Given the description of an element on the screen output the (x, y) to click on. 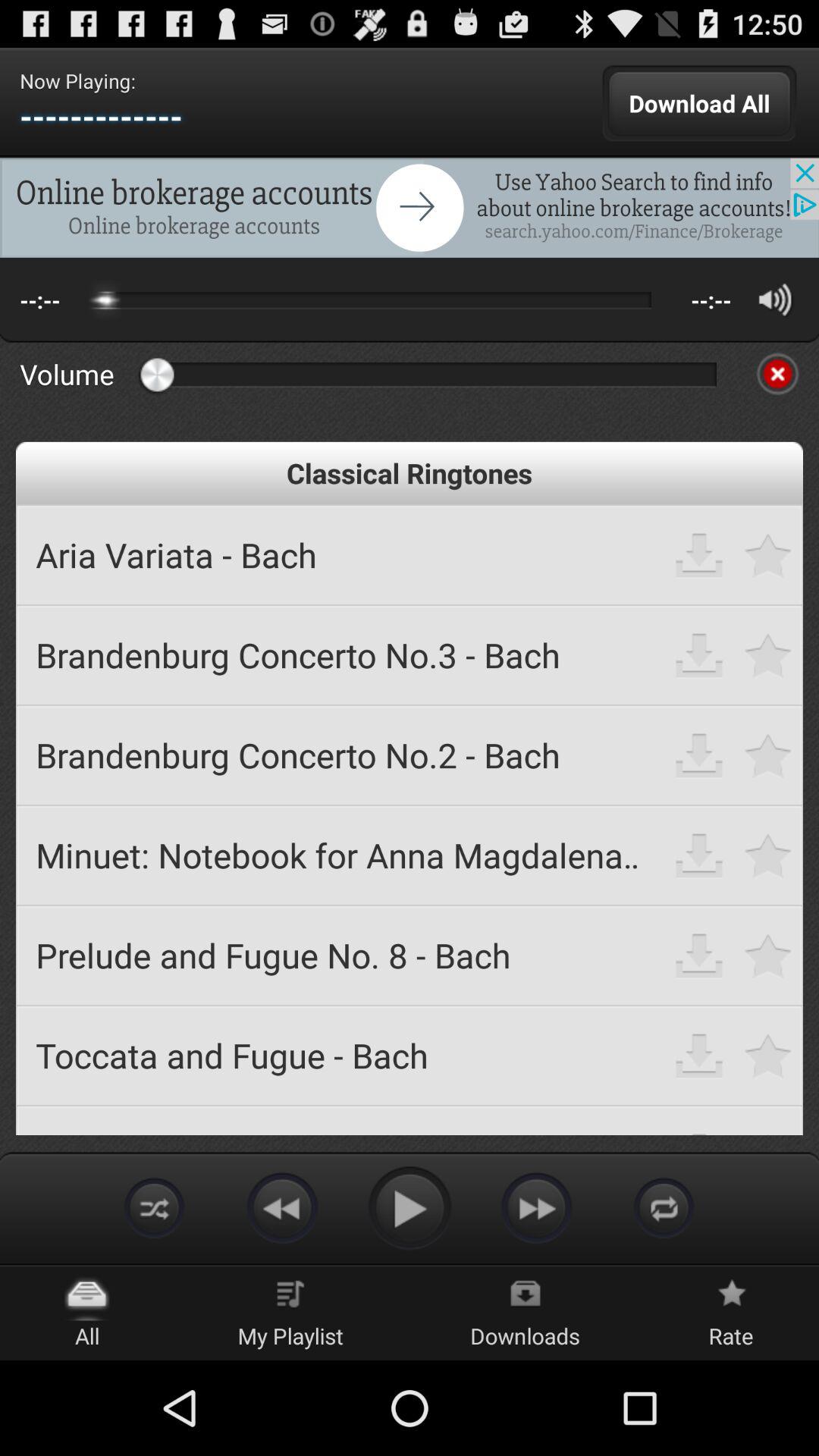
favorite the ringtone (768, 954)
